Given the description of an element on the screen output the (x, y) to click on. 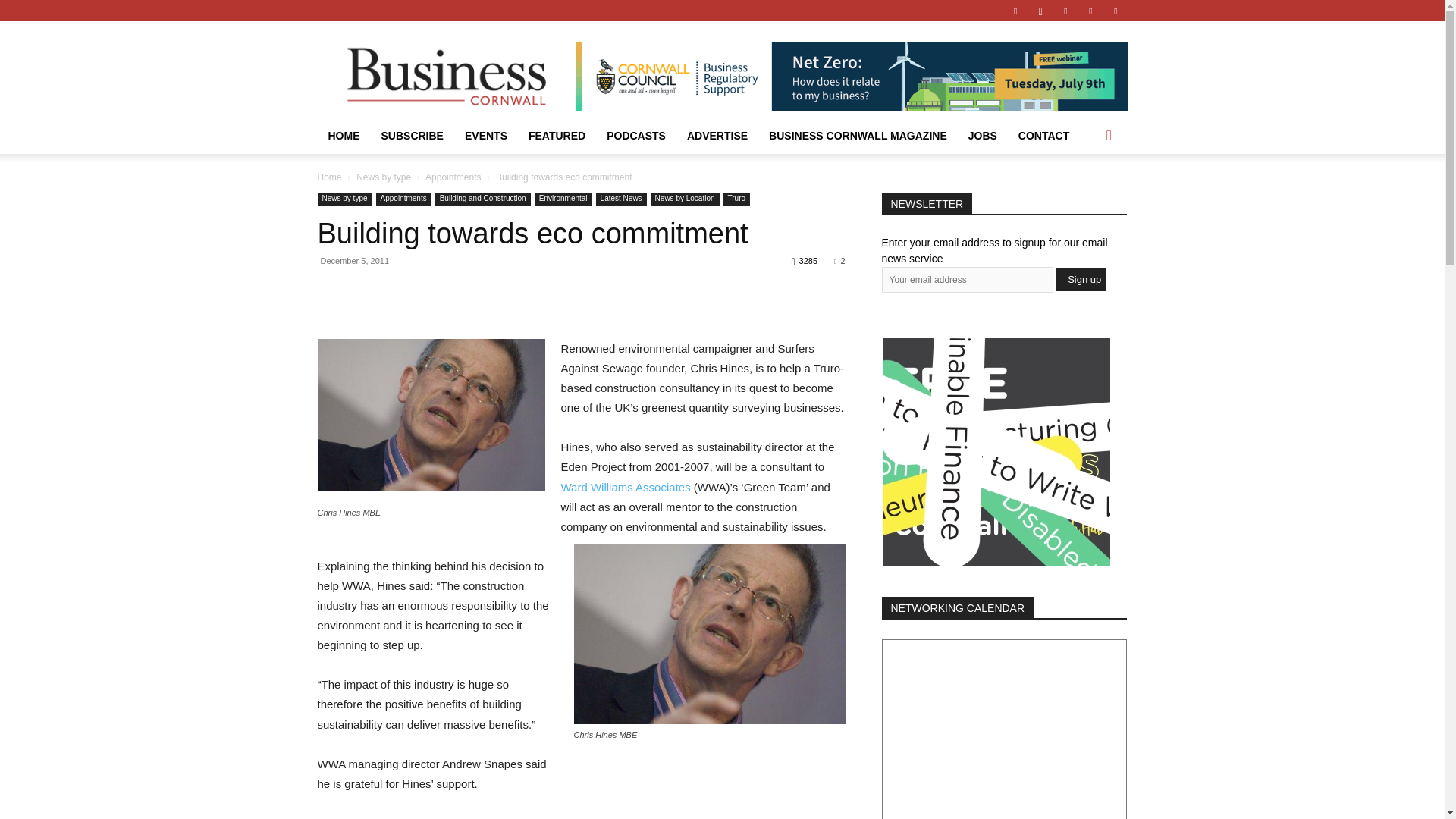
BUSINESS CORNWALL MAGAZINE (858, 135)
FEATURED (556, 135)
Instagram (1040, 10)
ADVERTISE (717, 135)
Twitter (1090, 10)
Youtube (1114, 10)
EVENTS (486, 135)
Linkedin (1065, 10)
PODCASTS (636, 135)
HOME (343, 135)
JOBS (982, 135)
Facebook (1015, 10)
CONTACT (1043, 135)
Sign up (1081, 279)
SUBSCRIBE (410, 135)
